Given the description of an element on the screen output the (x, y) to click on. 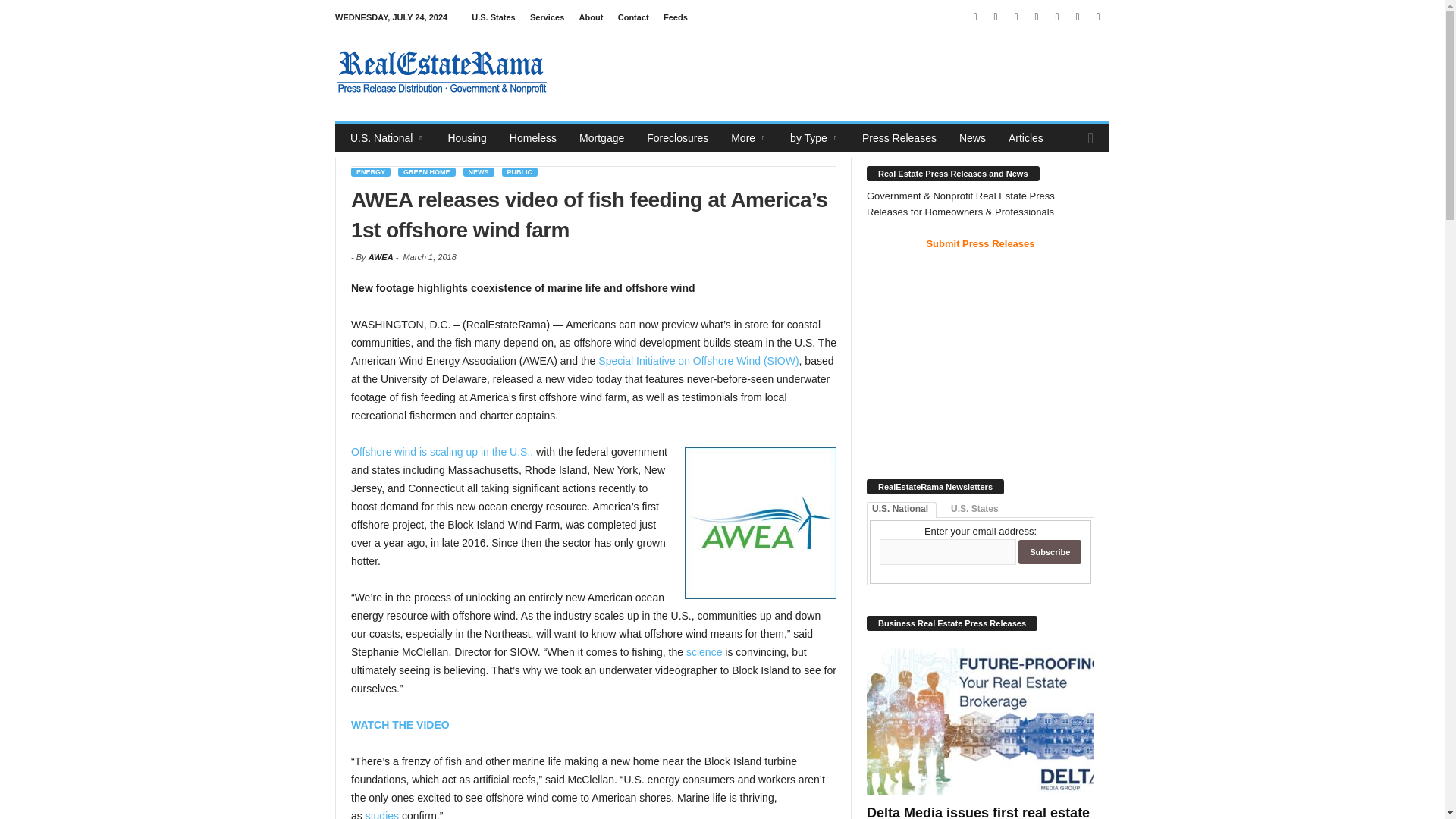
Youtube (1097, 17)
Advertisement (833, 71)
Pinterest (1036, 17)
Subscribe (1049, 551)
Facebook (975, 17)
Linkedin (995, 17)
Mail (1016, 17)
RSS (1056, 17)
Twitter (1077, 17)
